Given the description of an element on the screen output the (x, y) to click on. 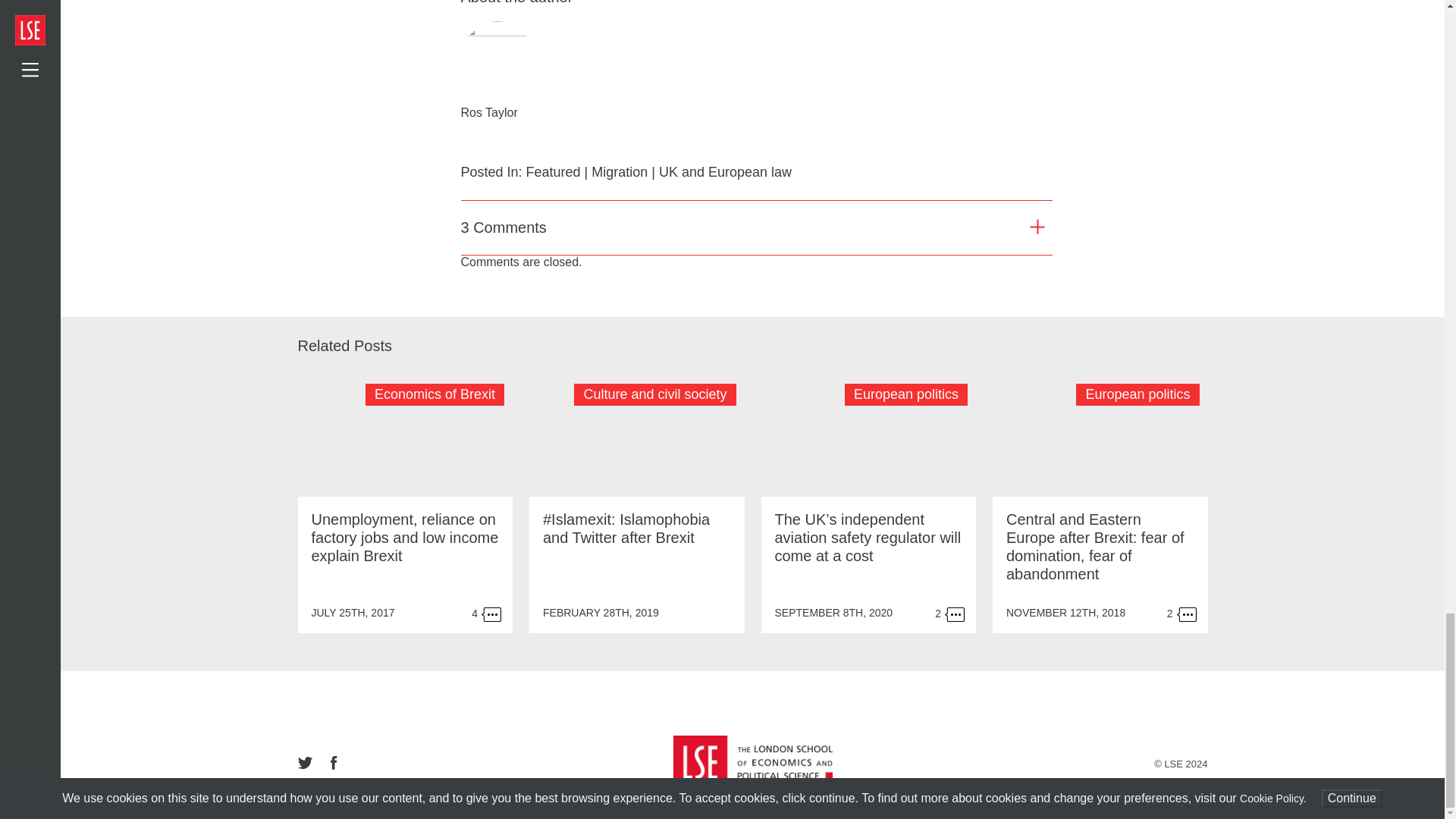
twitter (308, 763)
facebook (333, 763)
